Given the description of an element on the screen output the (x, y) to click on. 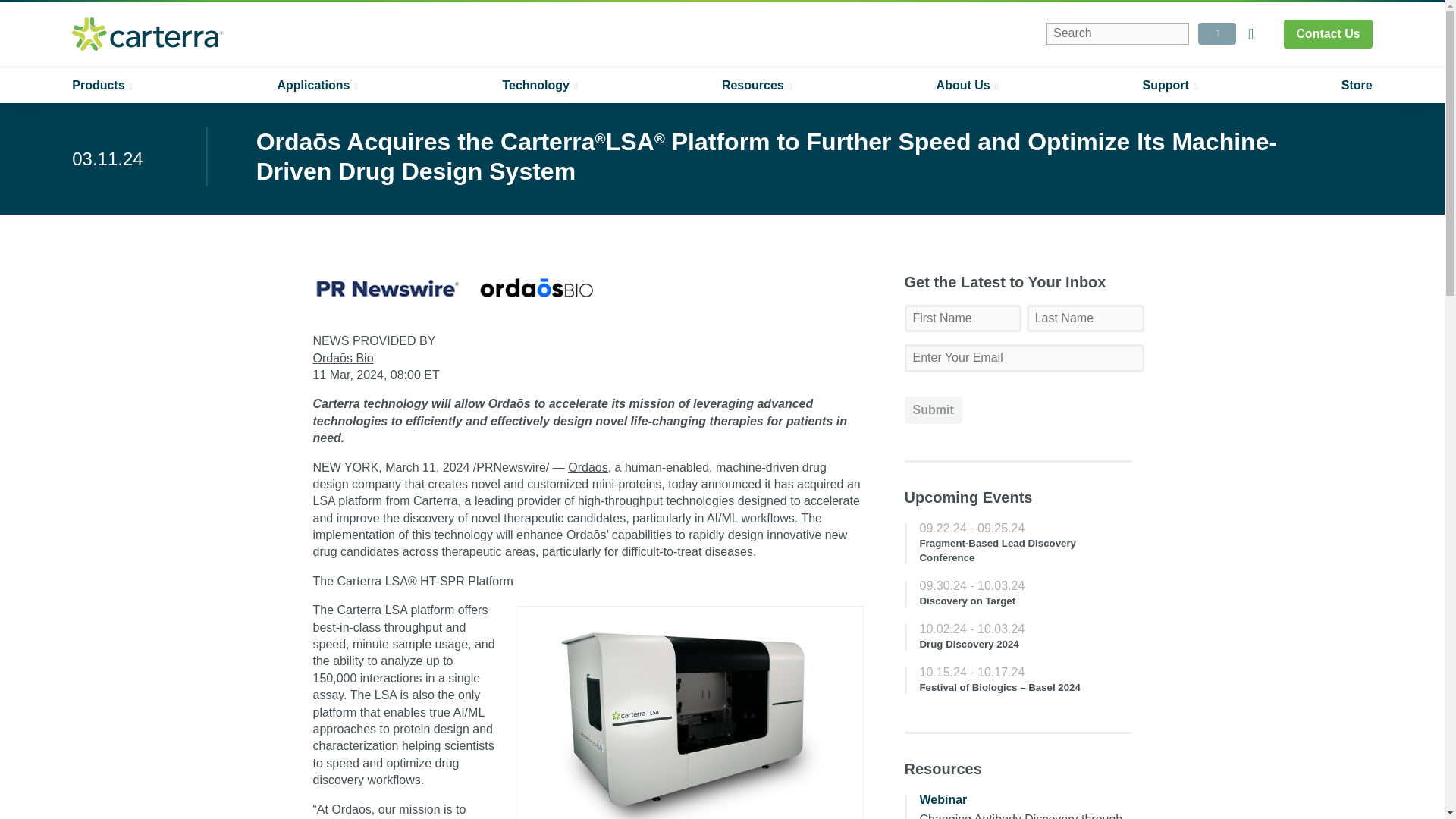
Submit (1217, 33)
Applications (316, 85)
Technology (539, 85)
Products (101, 85)
Resources (756, 85)
Search (1117, 33)
Contact Us (1327, 33)
Submit (932, 410)
